Given the description of an element on the screen output the (x, y) to click on. 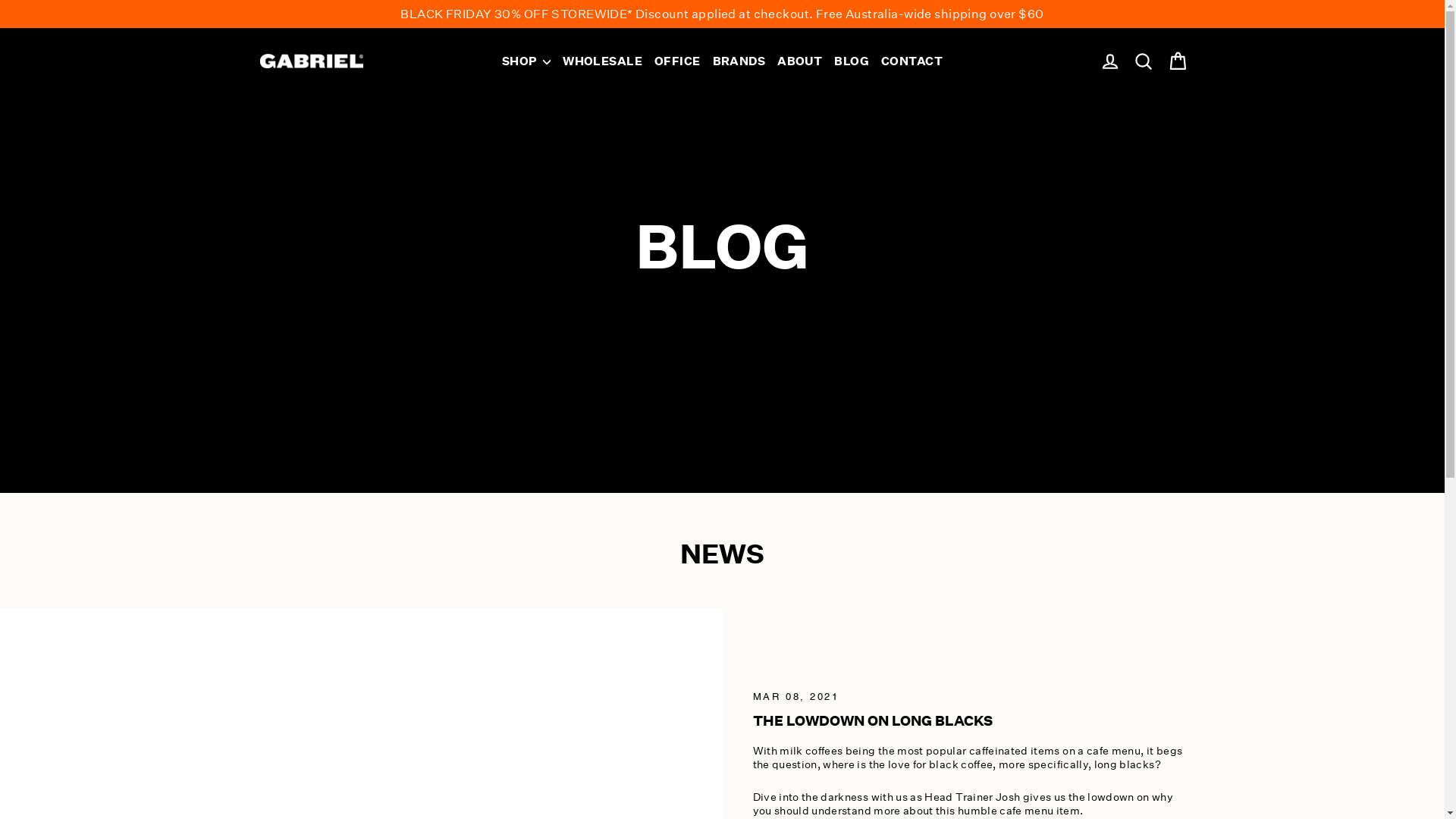
OFFICE Element type: text (677, 61)
Log in Element type: text (1109, 61)
BLOG Element type: text (851, 61)
CONTACT Element type: text (911, 61)
Cart Element type: text (1176, 61)
ABOUT Element type: text (799, 61)
Skip to content Element type: text (0, 0)
WHOLESALE Element type: text (602, 61)
SHOP Element type: text (525, 61)
Search Element type: text (1143, 61)
BRANDS Element type: text (738, 61)
THE LOWDOWN ON LONG BLACKS Element type: text (871, 720)
